Given the description of an element on the screen output the (x, y) to click on. 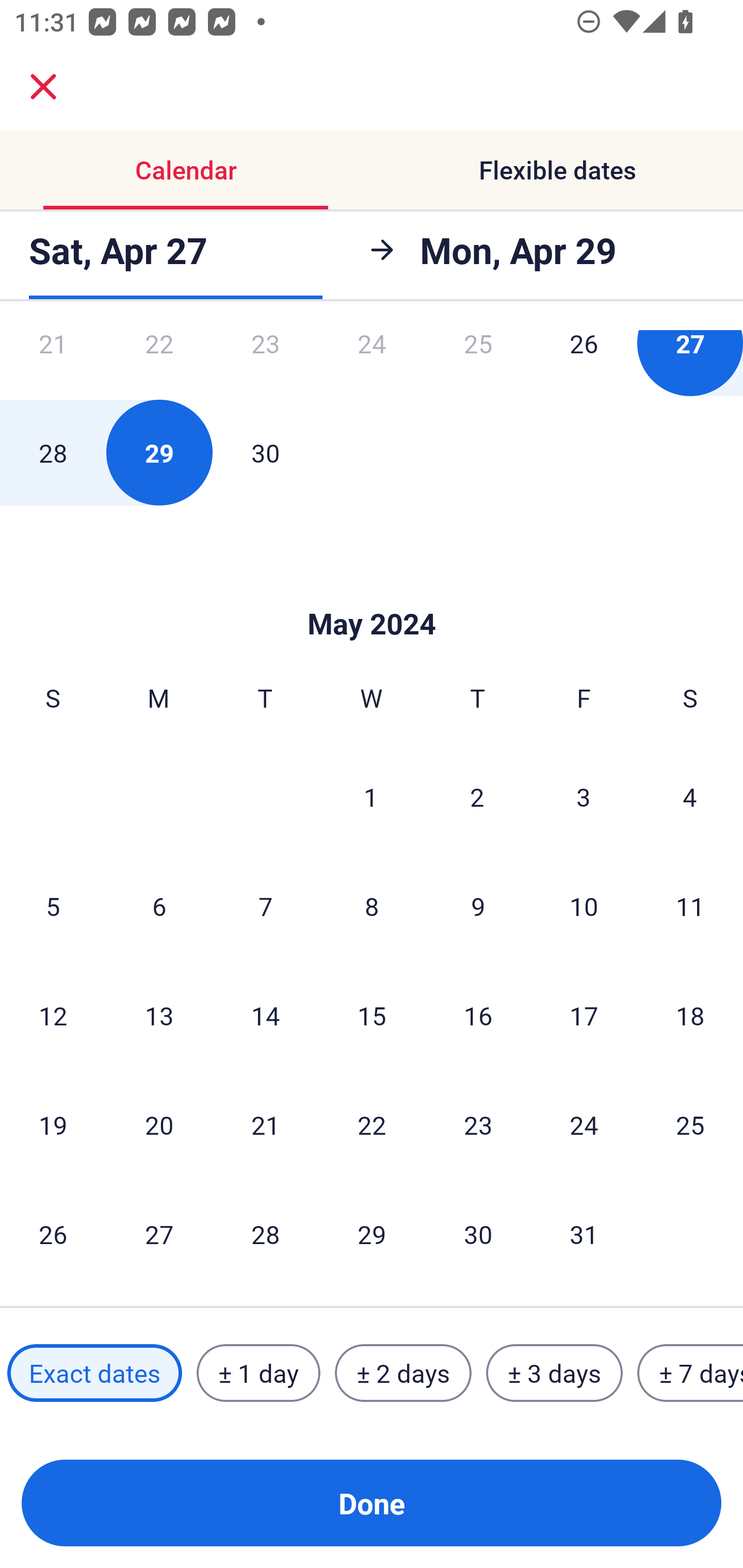
close. (43, 86)
Flexible dates (557, 170)
21 Sunday, April 21, 2024 (53, 363)
22 Monday, April 22, 2024 (159, 363)
23 Tuesday, April 23, 2024 (265, 363)
24 Wednesday, April 24, 2024 (371, 363)
25 Thursday, April 25, 2024 (477, 363)
26 Friday, April 26, 2024 (584, 363)
30 Tuesday, April 30, 2024 (265, 451)
Skip to Done (371, 593)
1 Wednesday, May 1, 2024 (371, 796)
2 Thursday, May 2, 2024 (477, 796)
3 Friday, May 3, 2024 (583, 796)
4 Saturday, May 4, 2024 (689, 796)
5 Sunday, May 5, 2024 (53, 905)
6 Monday, May 6, 2024 (159, 905)
7 Tuesday, May 7, 2024 (265, 905)
8 Wednesday, May 8, 2024 (371, 905)
9 Thursday, May 9, 2024 (477, 905)
10 Friday, May 10, 2024 (584, 905)
11 Saturday, May 11, 2024 (690, 905)
12 Sunday, May 12, 2024 (53, 1014)
13 Monday, May 13, 2024 (159, 1014)
14 Tuesday, May 14, 2024 (265, 1014)
15 Wednesday, May 15, 2024 (371, 1014)
16 Thursday, May 16, 2024 (477, 1014)
17 Friday, May 17, 2024 (584, 1014)
18 Saturday, May 18, 2024 (690, 1014)
19 Sunday, May 19, 2024 (53, 1124)
20 Monday, May 20, 2024 (159, 1124)
21 Tuesday, May 21, 2024 (265, 1124)
22 Wednesday, May 22, 2024 (371, 1124)
23 Thursday, May 23, 2024 (477, 1124)
24 Friday, May 24, 2024 (584, 1124)
25 Saturday, May 25, 2024 (690, 1124)
26 Sunday, May 26, 2024 (53, 1233)
27 Monday, May 27, 2024 (159, 1233)
28 Tuesday, May 28, 2024 (265, 1233)
29 Wednesday, May 29, 2024 (371, 1233)
30 Thursday, May 30, 2024 (477, 1233)
31 Friday, May 31, 2024 (584, 1233)
Exact dates (94, 1372)
± 1 day (258, 1372)
± 2 days (403, 1372)
± 3 days (553, 1372)
± 7 days (690, 1372)
Done (371, 1502)
